Given the description of an element on the screen output the (x, y) to click on. 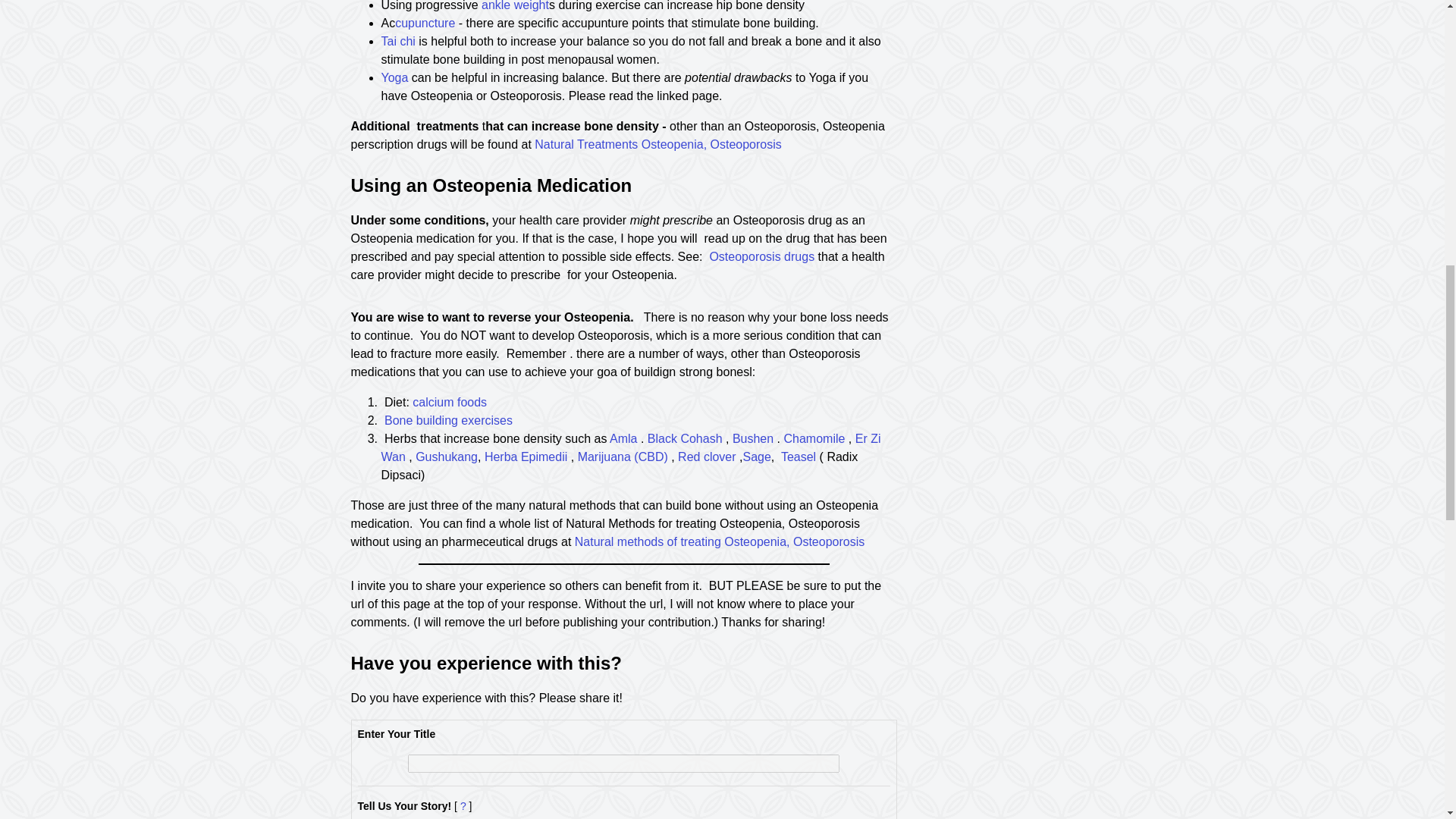
Red clover  (708, 456)
Natural Treatments Osteopenia, Osteoporosis (657, 144)
Bone building exercises (448, 420)
Sage (756, 456)
Osteoporosis drugs (762, 256)
Tai chi (397, 41)
Herba Epimedii (525, 456)
ankle weight (514, 5)
Gushukang (445, 456)
Black Cohash (684, 438)
